Given the description of an element on the screen output the (x, y) to click on. 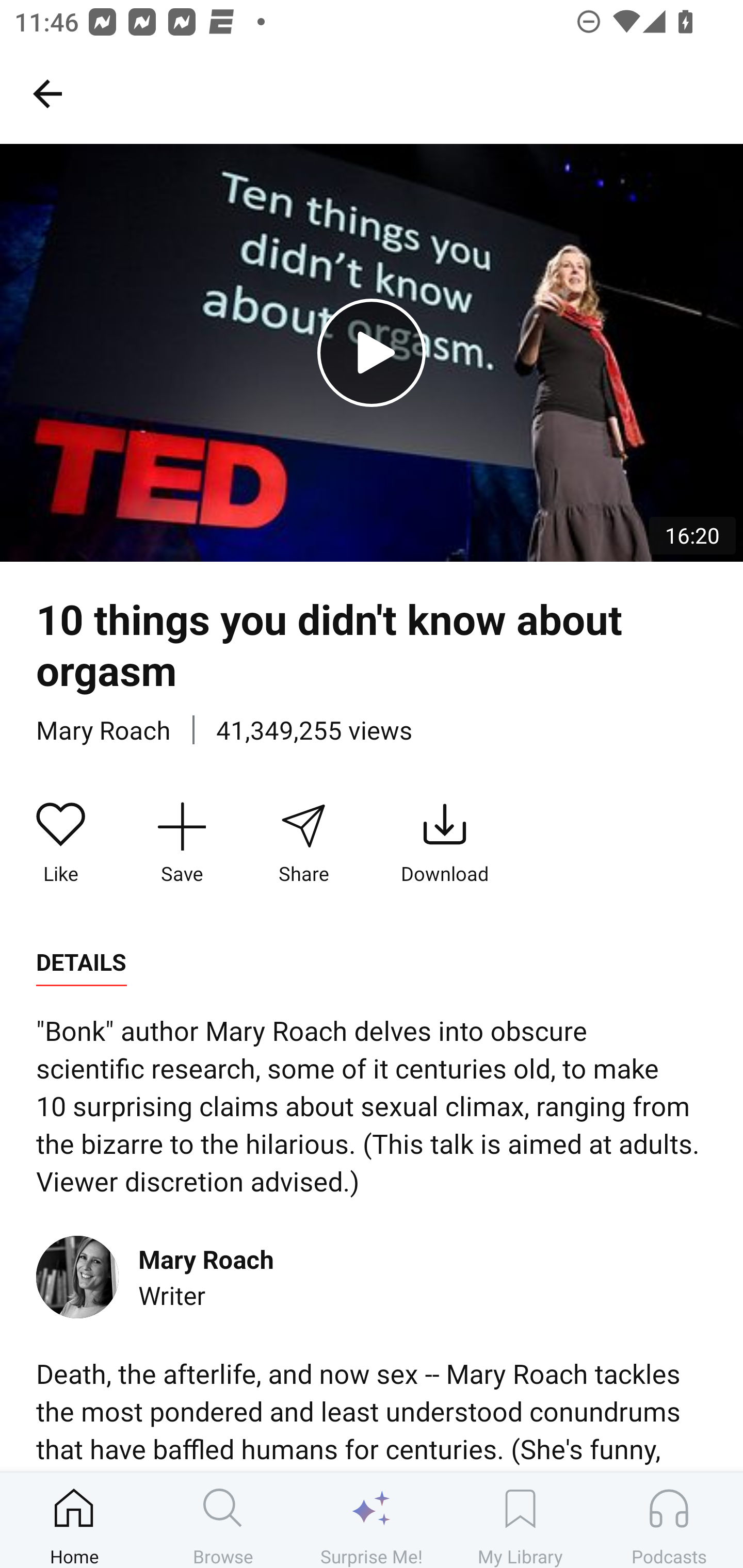
Recommended for you, back (47, 92)
Like (60, 843)
Save (181, 843)
Share (302, 843)
Download (444, 843)
DETAILS (80, 962)
Home (74, 1520)
Browse (222, 1520)
Surprise Me! (371, 1520)
My Library (519, 1520)
Podcasts (668, 1520)
